Given the description of an element on the screen output the (x, y) to click on. 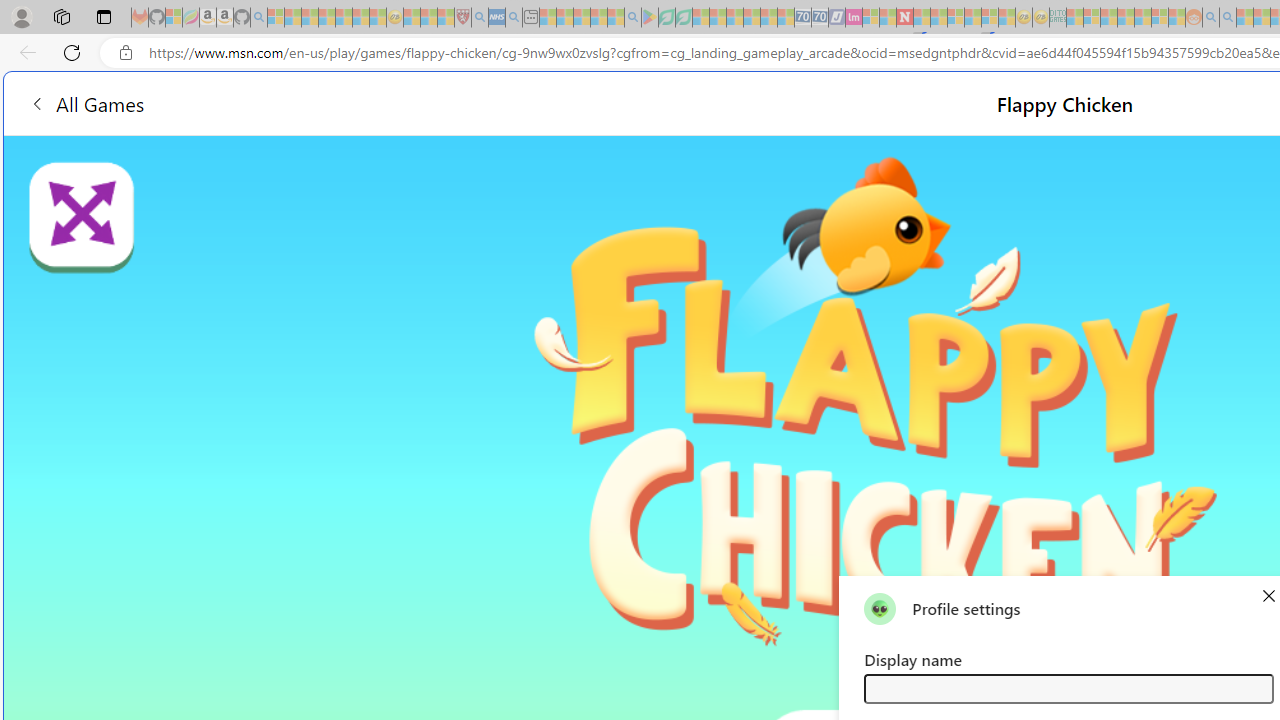
Pets - MSN - Sleeping (598, 17)
The Weather Channel - MSN - Sleeping (309, 17)
Utah sues federal government - Search - Sleeping (1227, 17)
MSNBC - MSN - Sleeping (1074, 17)
""'s avatar (880, 608)
list of asthma inhalers uk - Search - Sleeping (479, 17)
Jobs - lastminute.com Investor Portal - Sleeping (853, 17)
Recipes - MSN - Sleeping (411, 17)
DITOGAMES AG Imprint - Sleeping (1057, 17)
Cheap Hotels - Save70.com - Sleeping (819, 17)
